Given the description of an element on the screen output the (x, y) to click on. 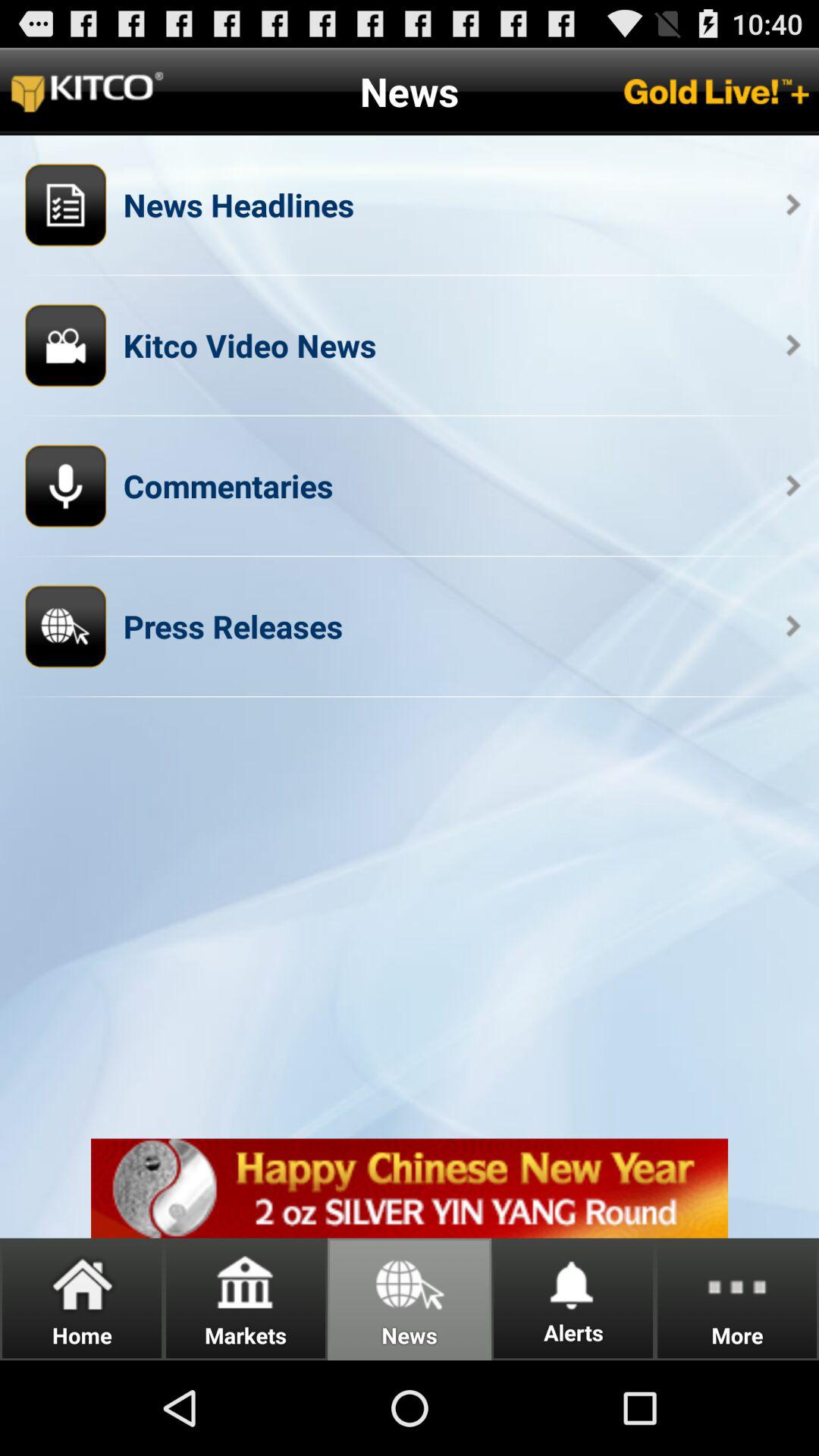
view advertisement (409, 1188)
